Given the description of an element on the screen output the (x, y) to click on. 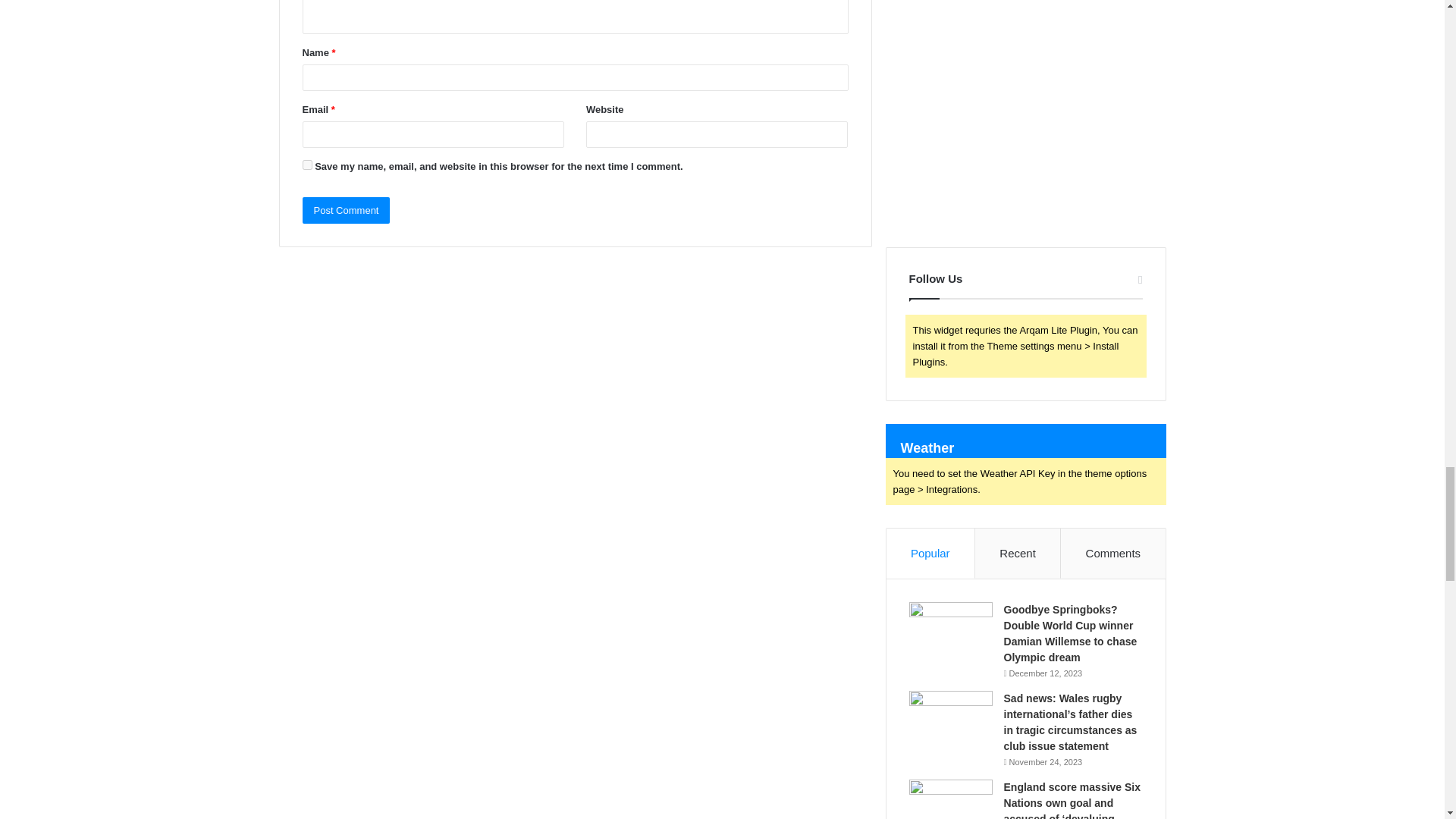
yes (306, 164)
Post Comment (345, 210)
